Given the description of an element on the screen output the (x, y) to click on. 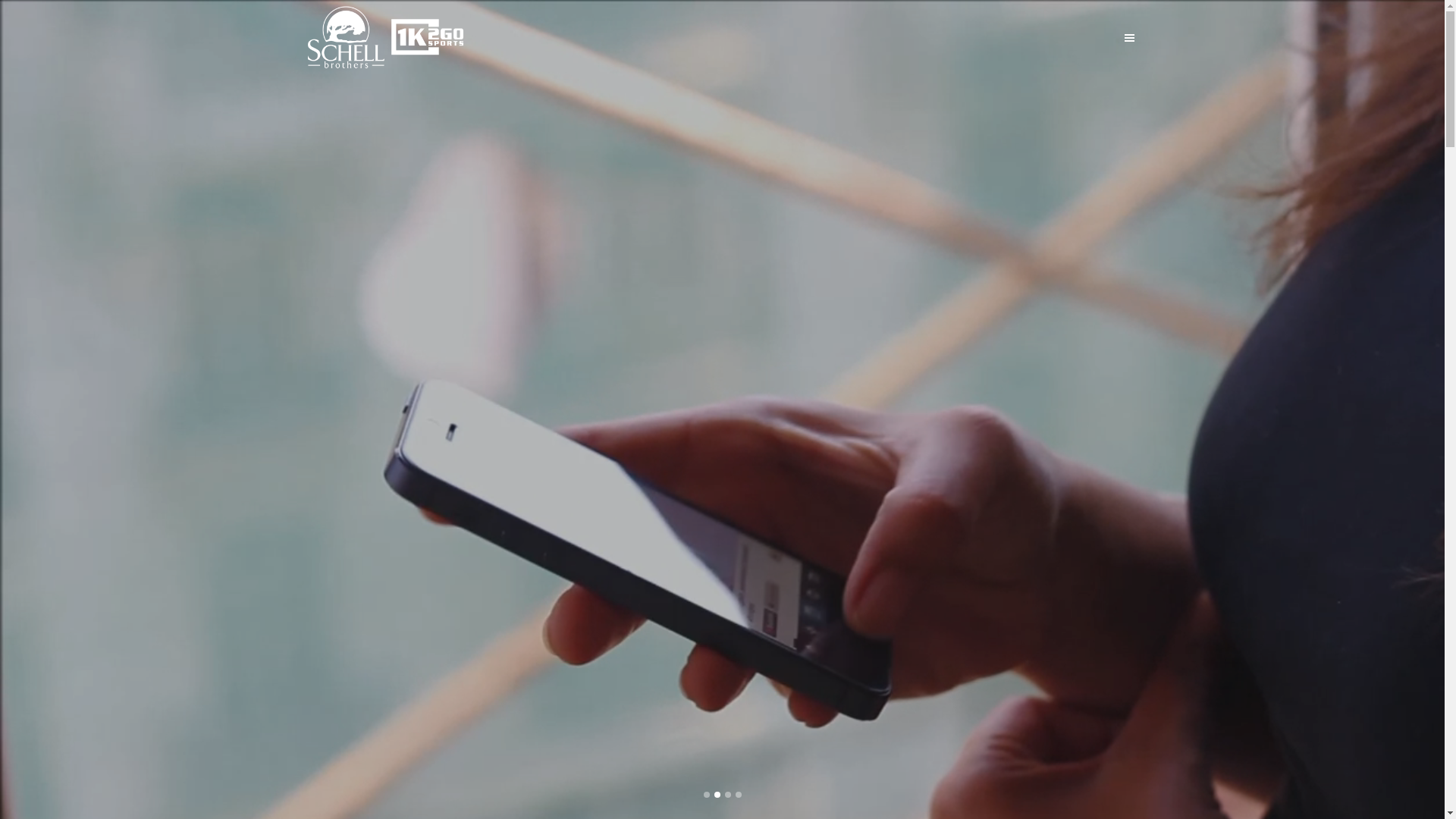
  Element type: text (1128, 37)
SEE MORE Element type: text (782, 534)
SEE MORE Element type: text (662, 534)
